Given the description of an element on the screen output the (x, y) to click on. 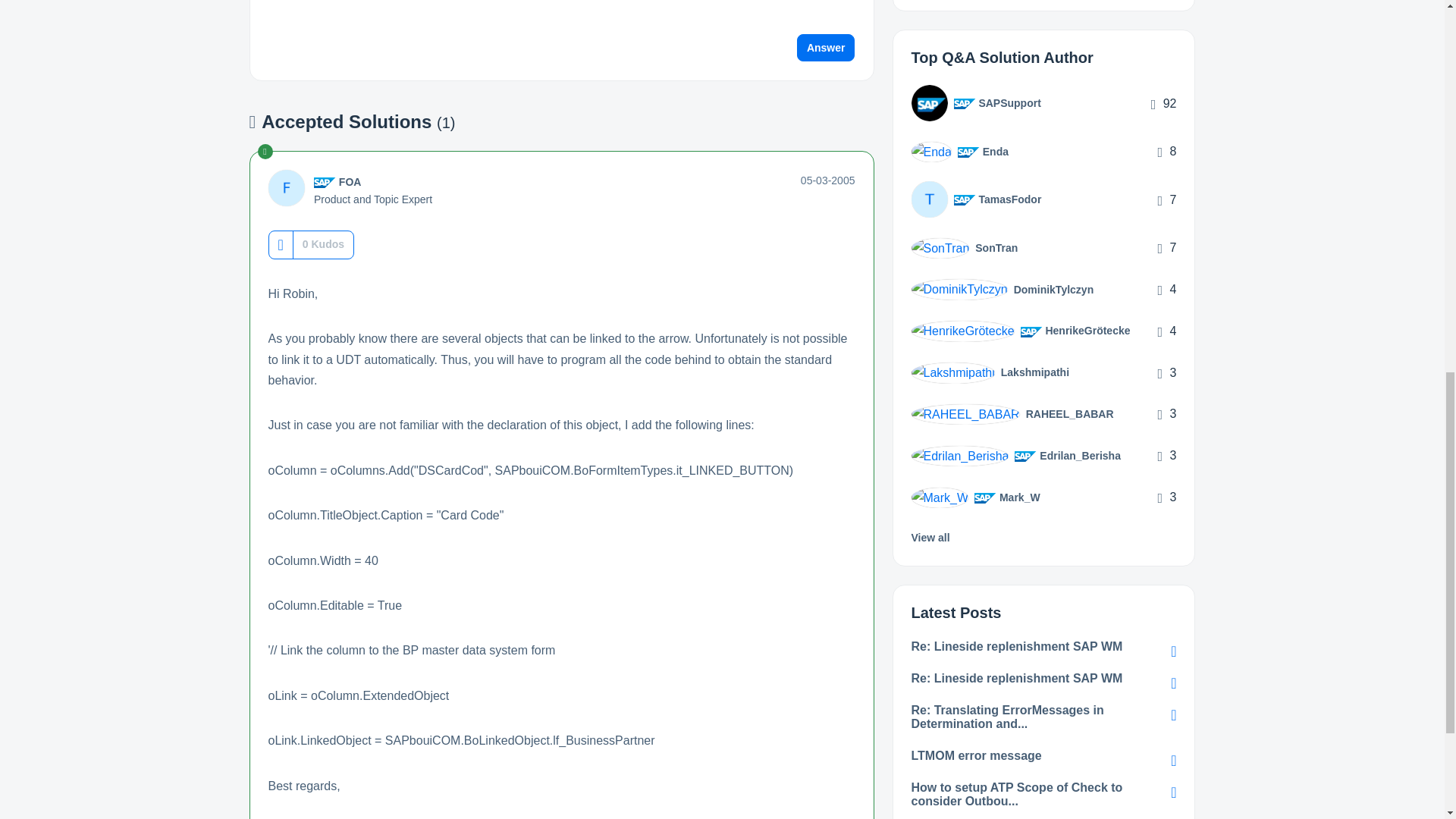
FOA (285, 187)
FOA (350, 182)
Product and Topic Expert (325, 182)
Answer (826, 47)
